Given the description of an element on the screen output the (x, y) to click on. 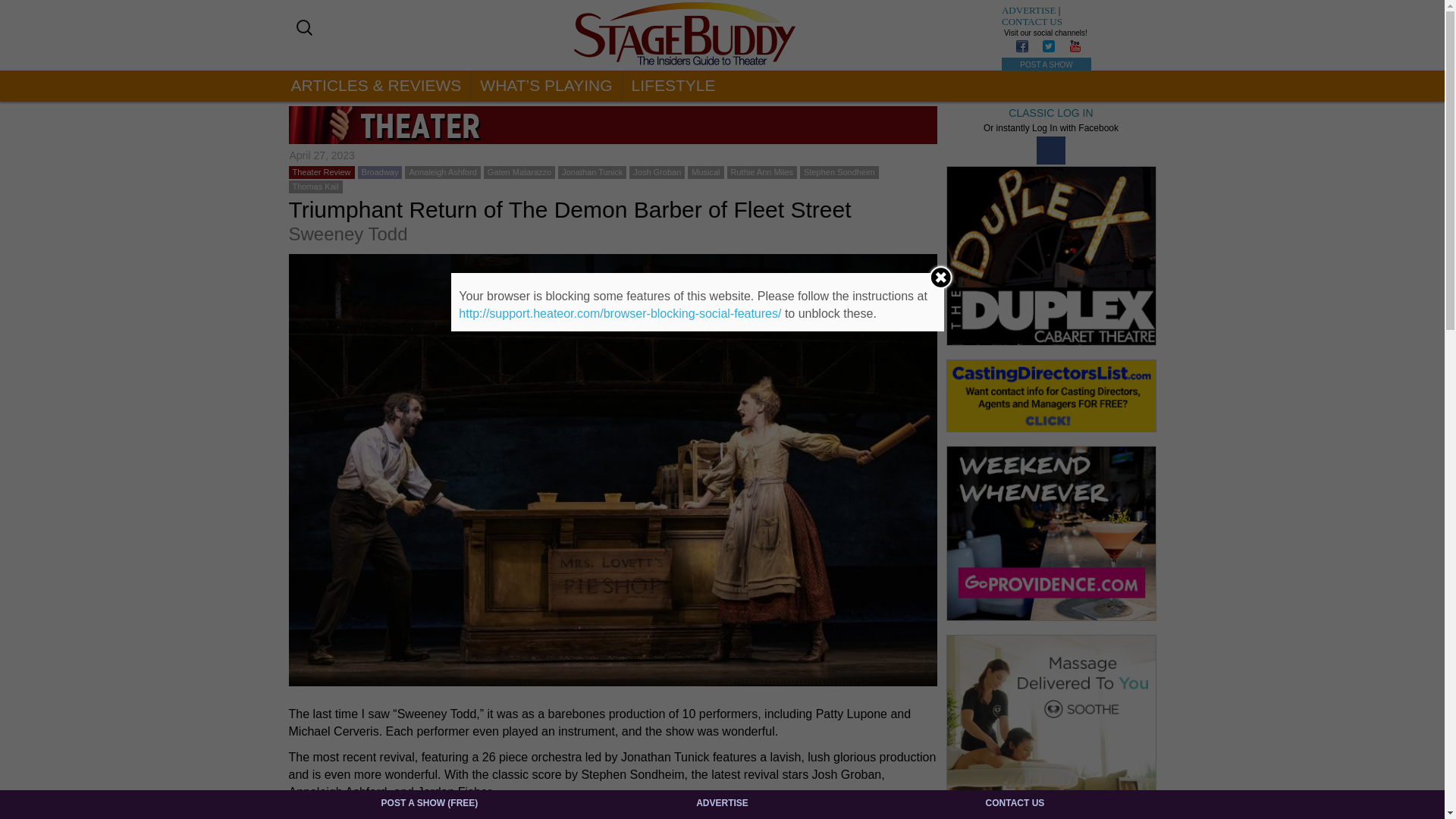
Search (25, 11)
CONTACT US (1031, 21)
Jonathan Tunick (592, 171)
LIFESTYLE (674, 85)
Theater Review (321, 171)
Broadway (379, 171)
Ruthie Ann Miles (761, 171)
Thomas Kail (315, 185)
Stephen Sondheim (839, 171)
Annaleigh Ashford (442, 171)
ADVERTISE (1028, 9)
Josh Groban (657, 171)
POST A SHOW (1045, 64)
Gaten Matarazzo (519, 171)
Musical (705, 171)
